Given the description of an element on the screen output the (x, y) to click on. 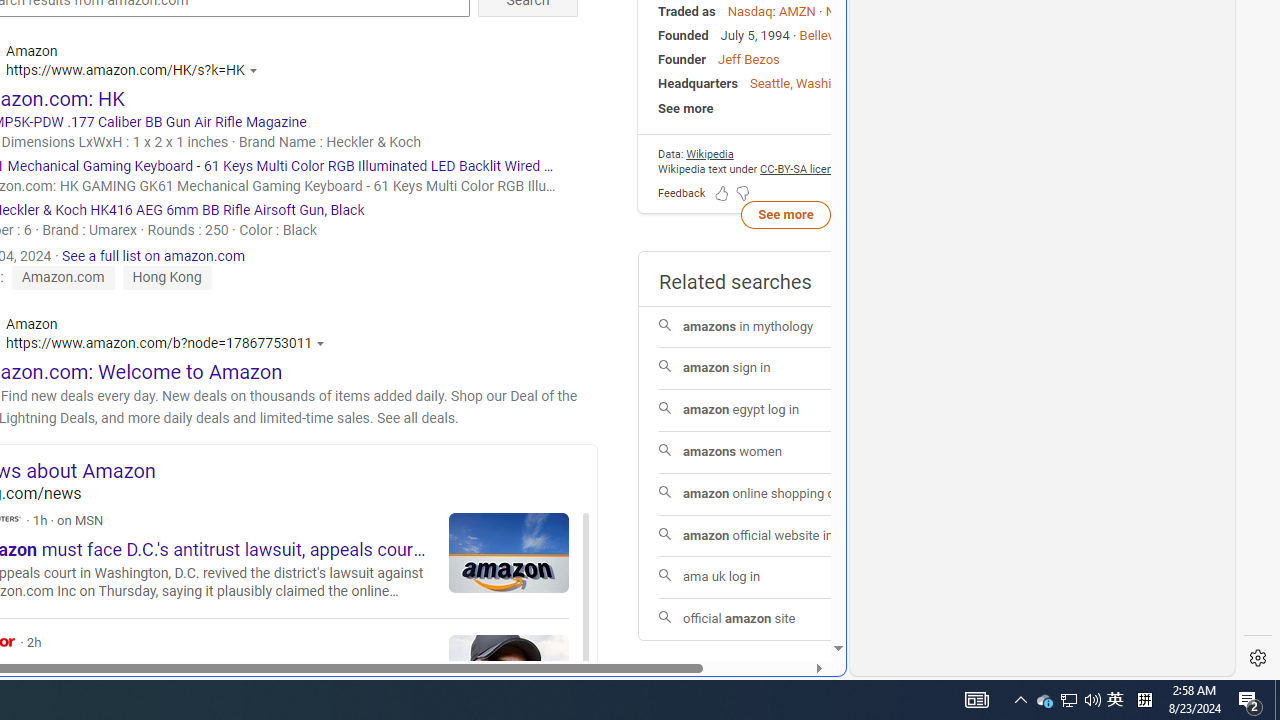
amazon online shopping department (785, 494)
amazon sign in (785, 368)
Nasdaq-100 (861, 11)
amazons women (785, 452)
Founder (681, 58)
amazon online shopping department (785, 493)
See more (785, 107)
amazon official website india (785, 535)
Data attribution Wikipedia (709, 154)
CC-BY-SA license (802, 168)
amazon sign in (785, 368)
Feedback Dislike (742, 192)
ama uk log in (785, 578)
amazons in mythology (785, 327)
Founded (683, 35)
